Given the description of an element on the screen output the (x, y) to click on. 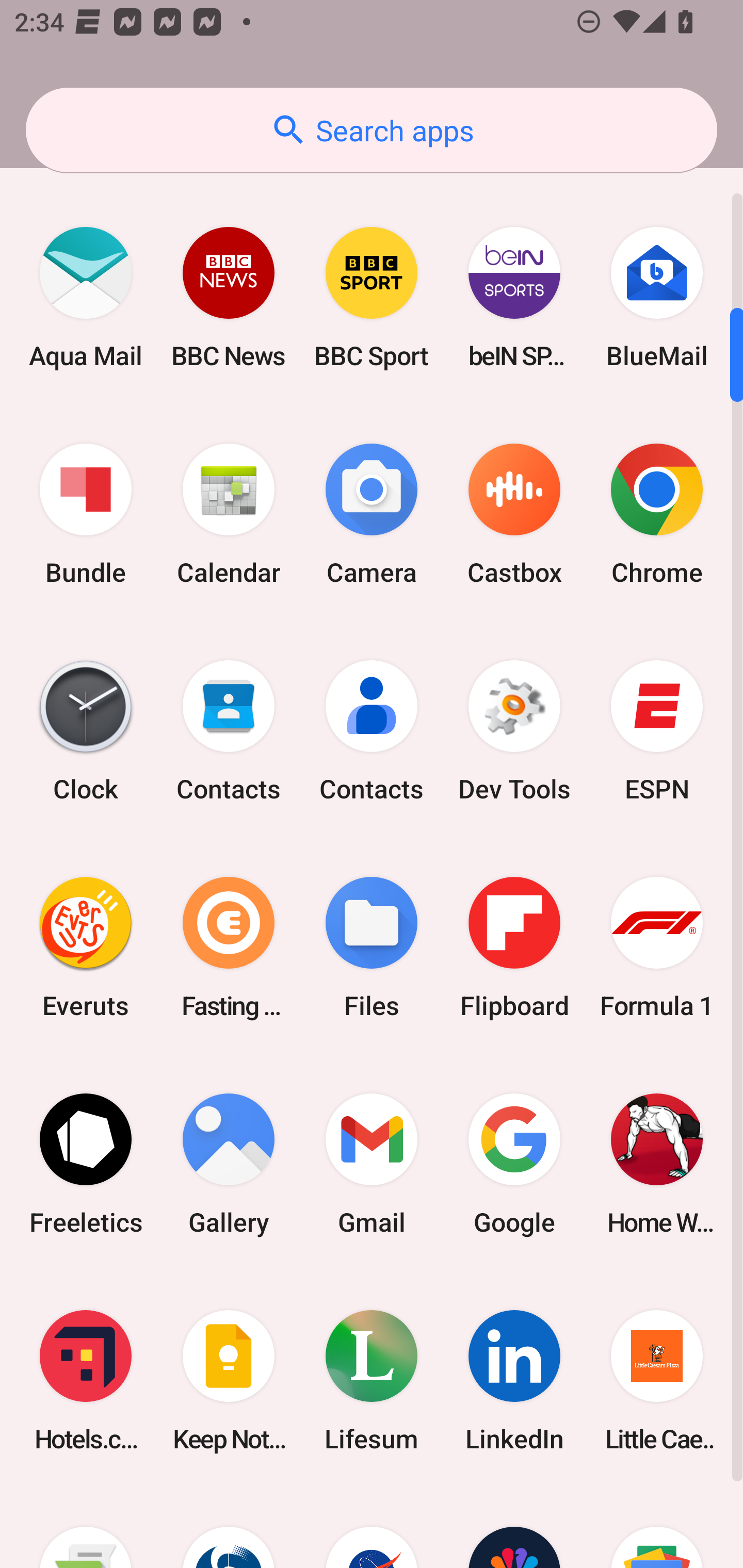
  Search apps (371, 130)
Aqua Mail (85, 297)
BBC News (228, 297)
BBC Sport (371, 297)
beIN SPORTS (514, 297)
BlueMail (656, 297)
Bundle (85, 514)
Calendar (228, 514)
Camera (371, 514)
Castbox (514, 514)
Chrome (656, 514)
Clock (85, 730)
Contacts (228, 730)
Contacts (371, 730)
Dev Tools (514, 730)
ESPN (656, 730)
Everuts (85, 946)
Fasting Coach (228, 946)
Files (371, 946)
Flipboard (514, 946)
Formula 1 (656, 946)
Freeletics (85, 1164)
Gallery (228, 1164)
Gmail (371, 1164)
Google (514, 1164)
Home Workout (656, 1164)
Hotels.com (85, 1381)
Keep Notes (228, 1381)
Lifesum (371, 1381)
LinkedIn (514, 1381)
Little Caesars Pizza (656, 1381)
